Given the description of an element on the screen output the (x, y) to click on. 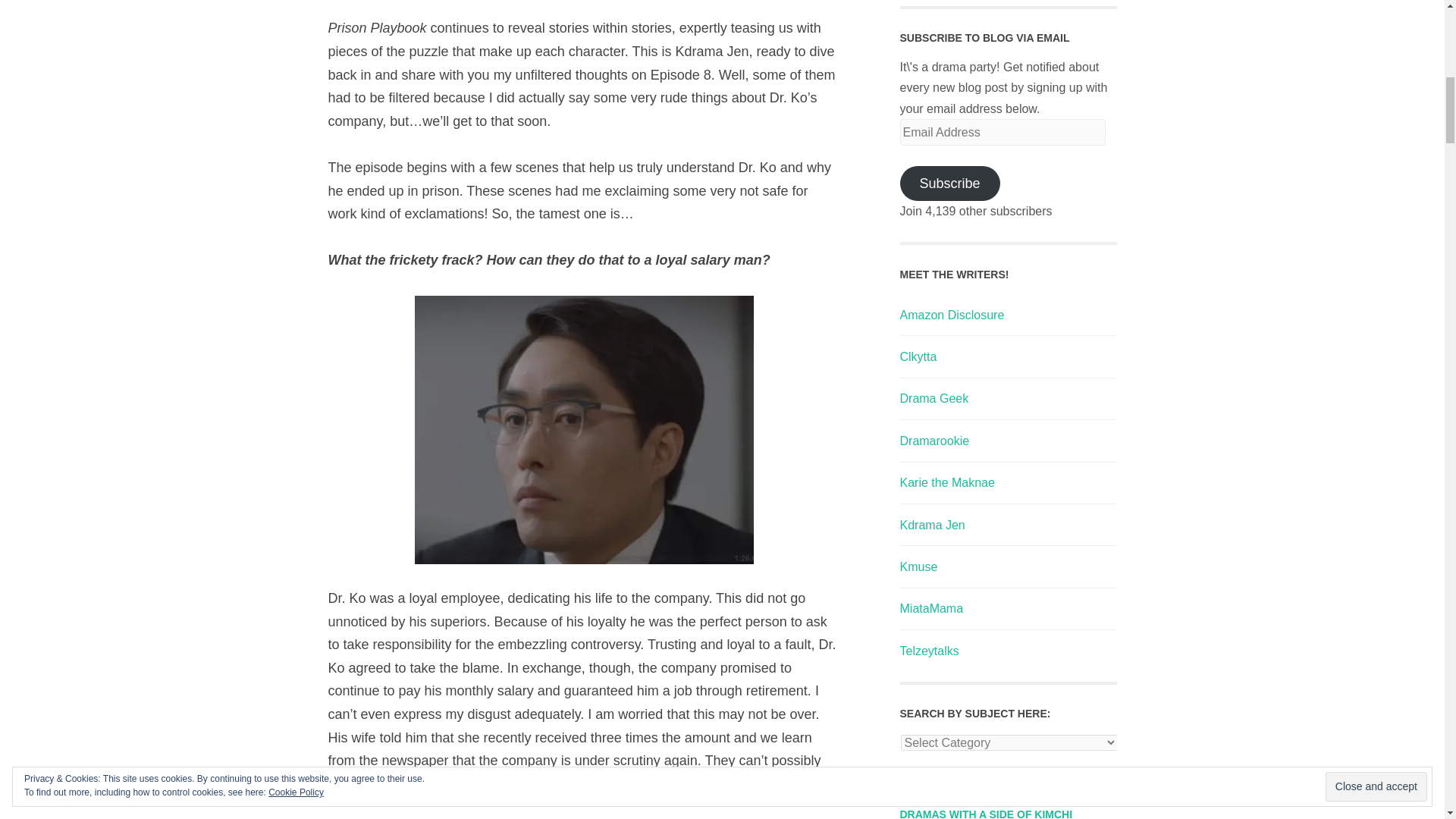
Kmuse (918, 566)
Telzeytalks (928, 650)
Karie the Maknae (946, 481)
Drama Geek (933, 398)
Dramarookie (934, 440)
Kdrama Jen (931, 524)
Amazon Disclosure (951, 314)
MiataMama (930, 608)
Subscribe (948, 183)
Clkytta (917, 356)
